Given the description of an element on the screen output the (x, y) to click on. 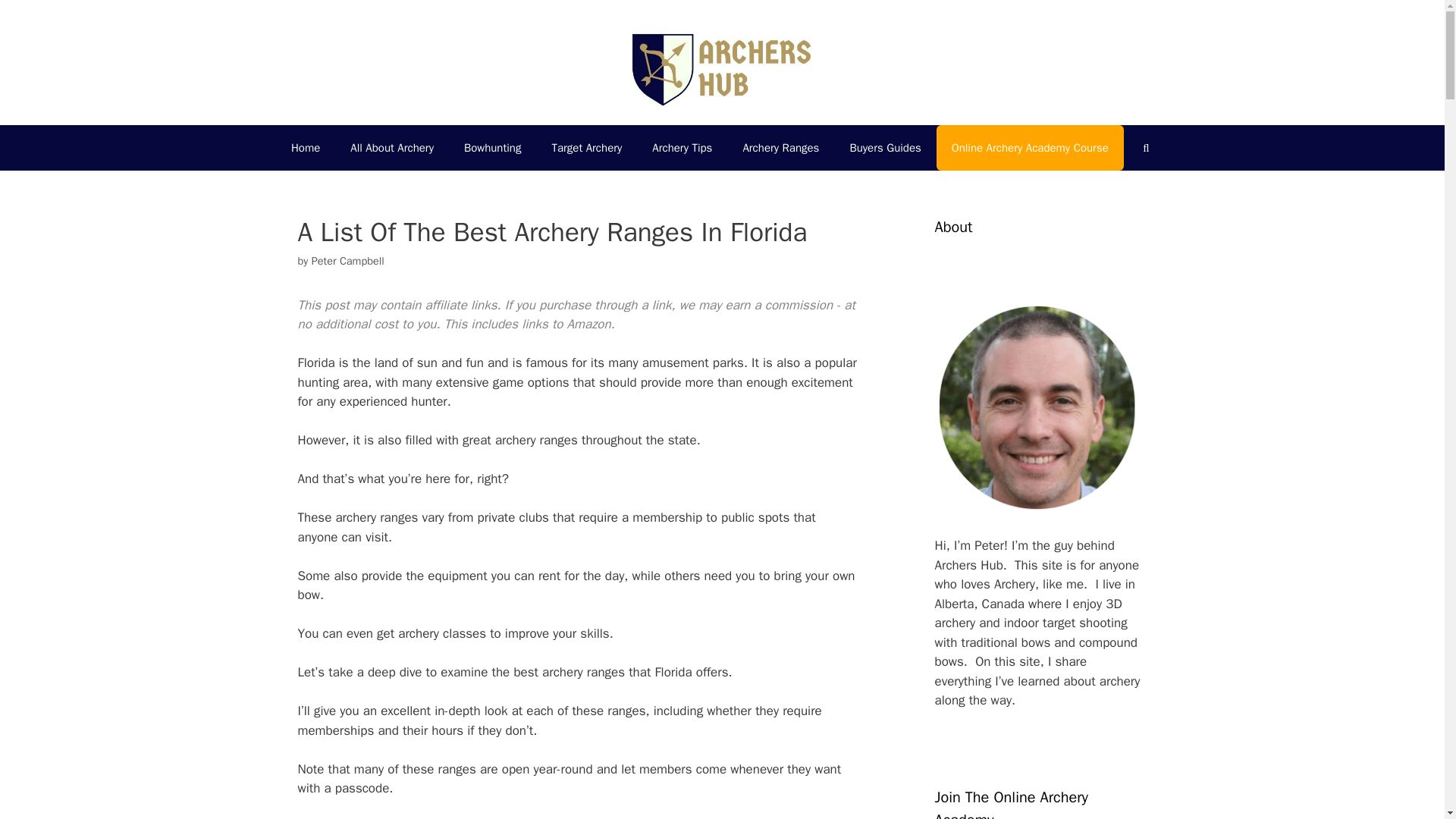
Archery Ranges (780, 147)
Buyers Guides (885, 147)
Bowhunting (491, 147)
Archery Tips (681, 147)
All About Archery (391, 147)
View all posts by Peter Campbell (347, 260)
Home (305, 147)
Peter Campbell (347, 260)
Online Archery Academy Course (1030, 147)
Target Archery (586, 147)
